Given the description of an element on the screen output the (x, y) to click on. 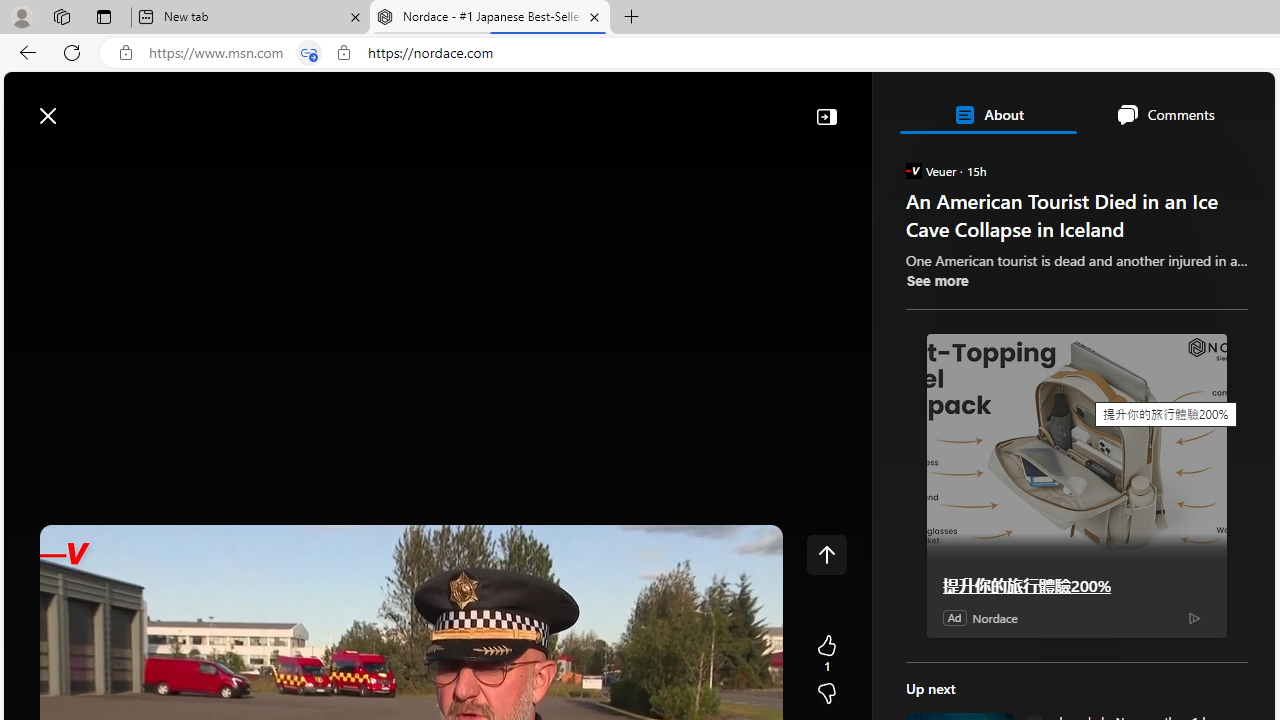
Skip to footer (82, 105)
Ad Choice (1193, 617)
Watch (257, 162)
Comments (1165, 114)
Discover (91, 162)
Personalize (1195, 162)
1 Like (826, 653)
Enter your search term (644, 106)
Skip to content (86, 105)
Open Copilot (995, 105)
About (987, 114)
